Given the description of an element on the screen output the (x, y) to click on. 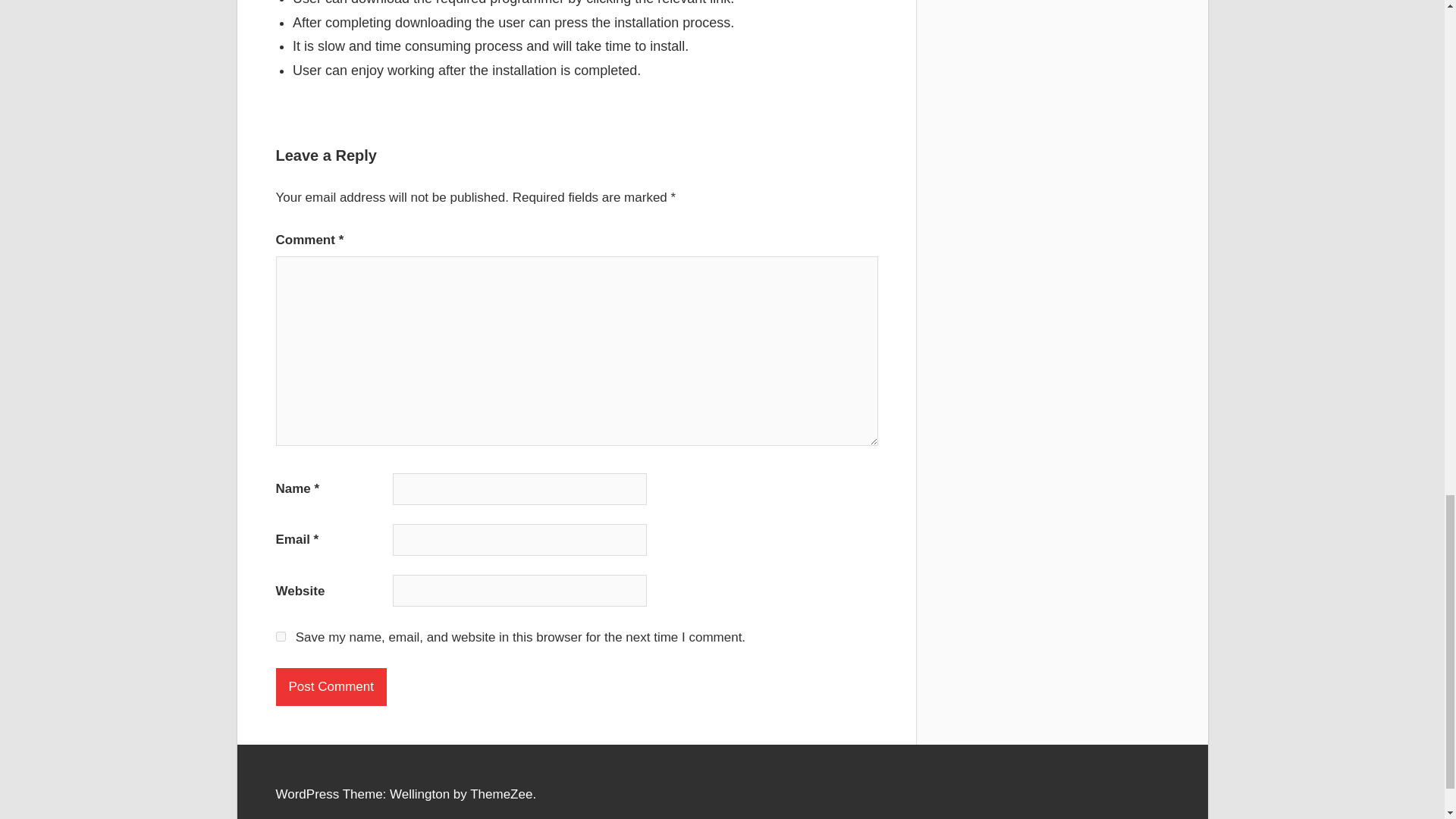
DRIVERPACK SOLUTION (312, 122)
Post Comment (331, 686)
PC SOFTWARE (314, 125)
Post Comment (331, 686)
yes (280, 636)
